Given the description of an element on the screen output the (x, y) to click on. 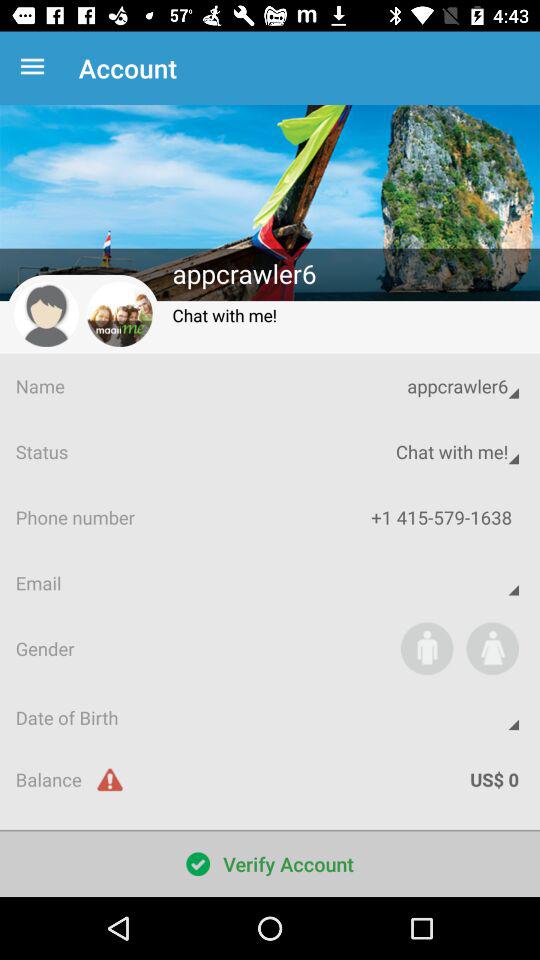
set gender to female (492, 648)
